Given the description of an element on the screen output the (x, y) to click on. 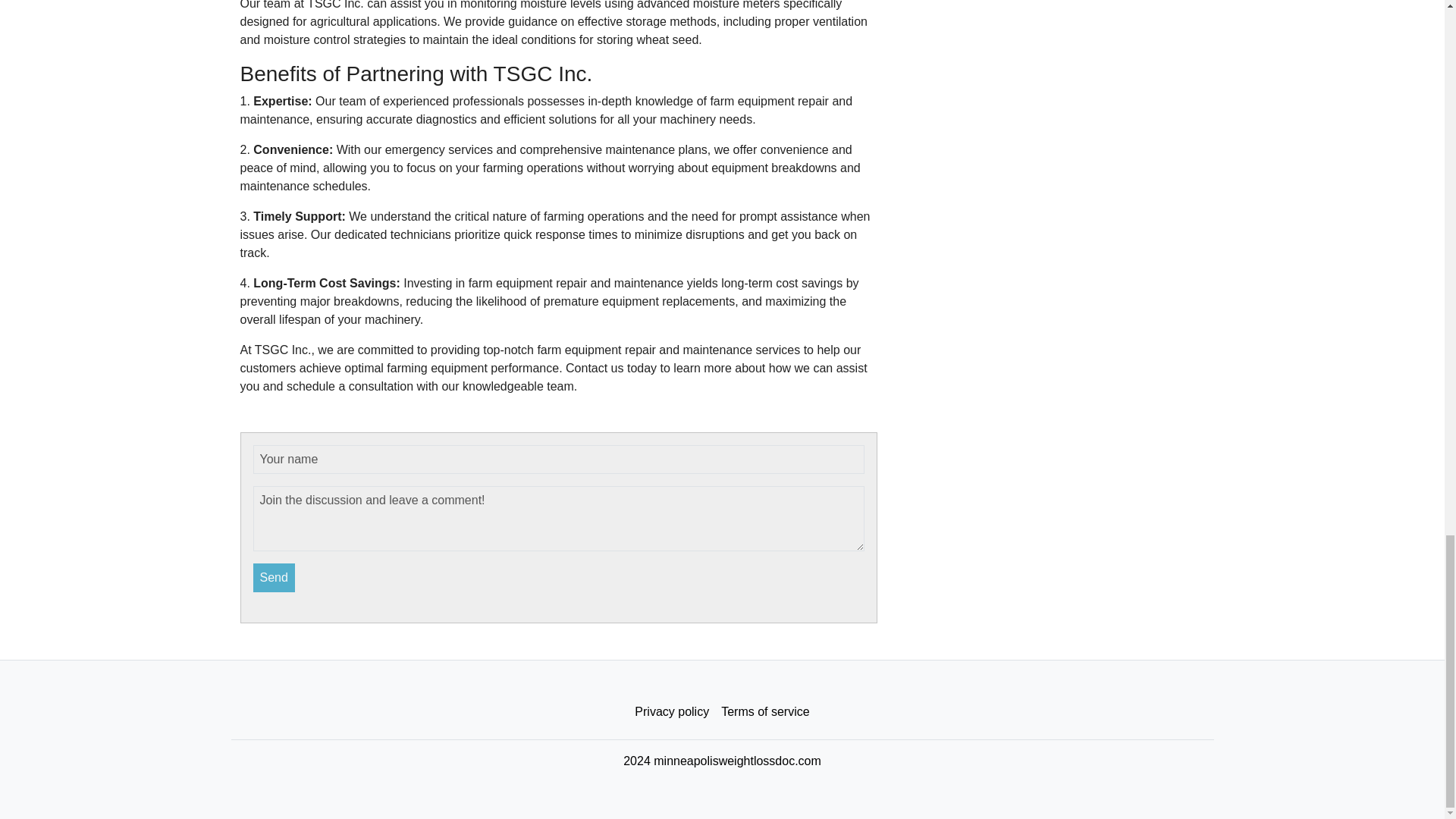
Terms of service (764, 711)
Send (274, 577)
Send (274, 577)
Privacy policy (671, 711)
